Given the description of an element on the screen output the (x, y) to click on. 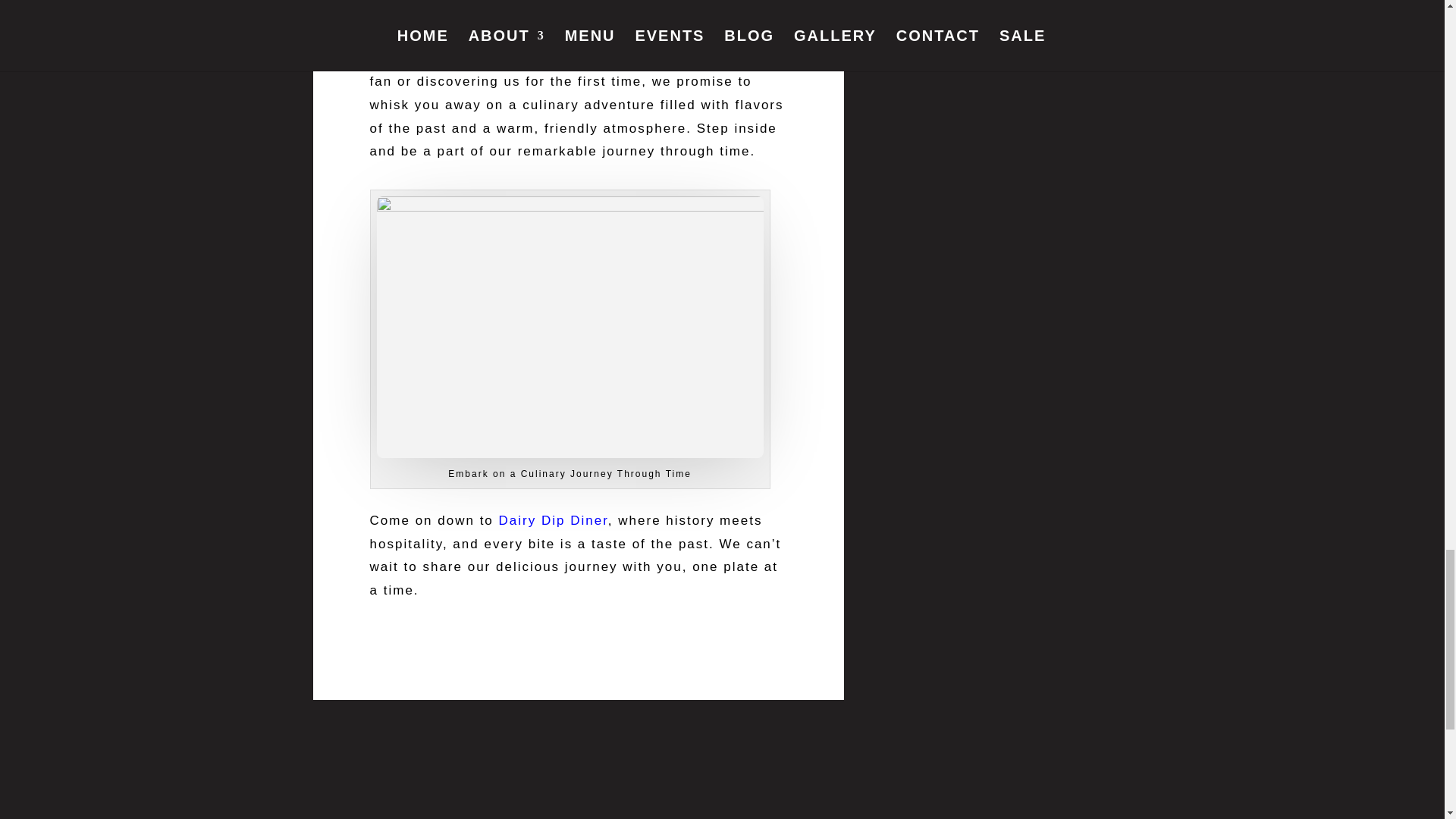
Dairy Dip Diner (553, 520)
